Given the description of an element on the screen output the (x, y) to click on. 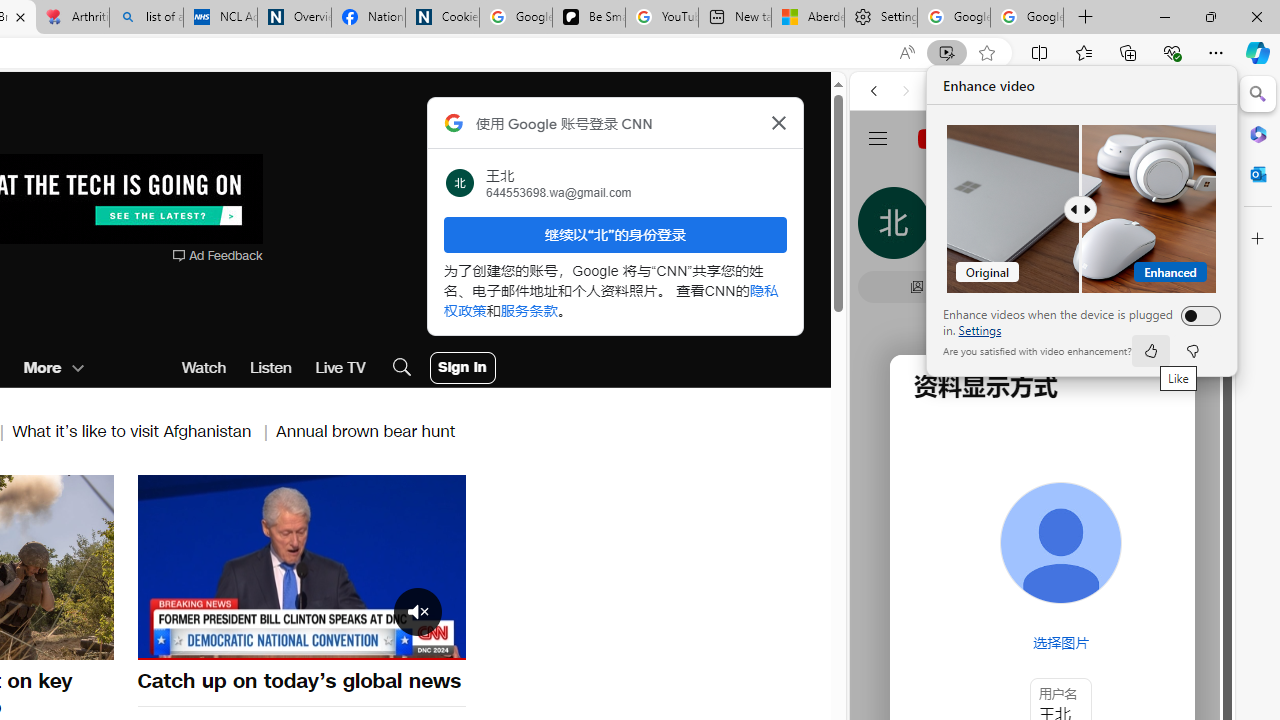
Google (947, 584)
Show More Music (1164, 546)
Like (1150, 350)
Unmute (164, 642)
#you (1042, 445)
Pause (301, 567)
Fullscreen (438, 642)
Class: Bz112c Bz112c-r9oPif (778, 122)
Music (1042, 543)
